Given the description of an element on the screen output the (x, y) to click on. 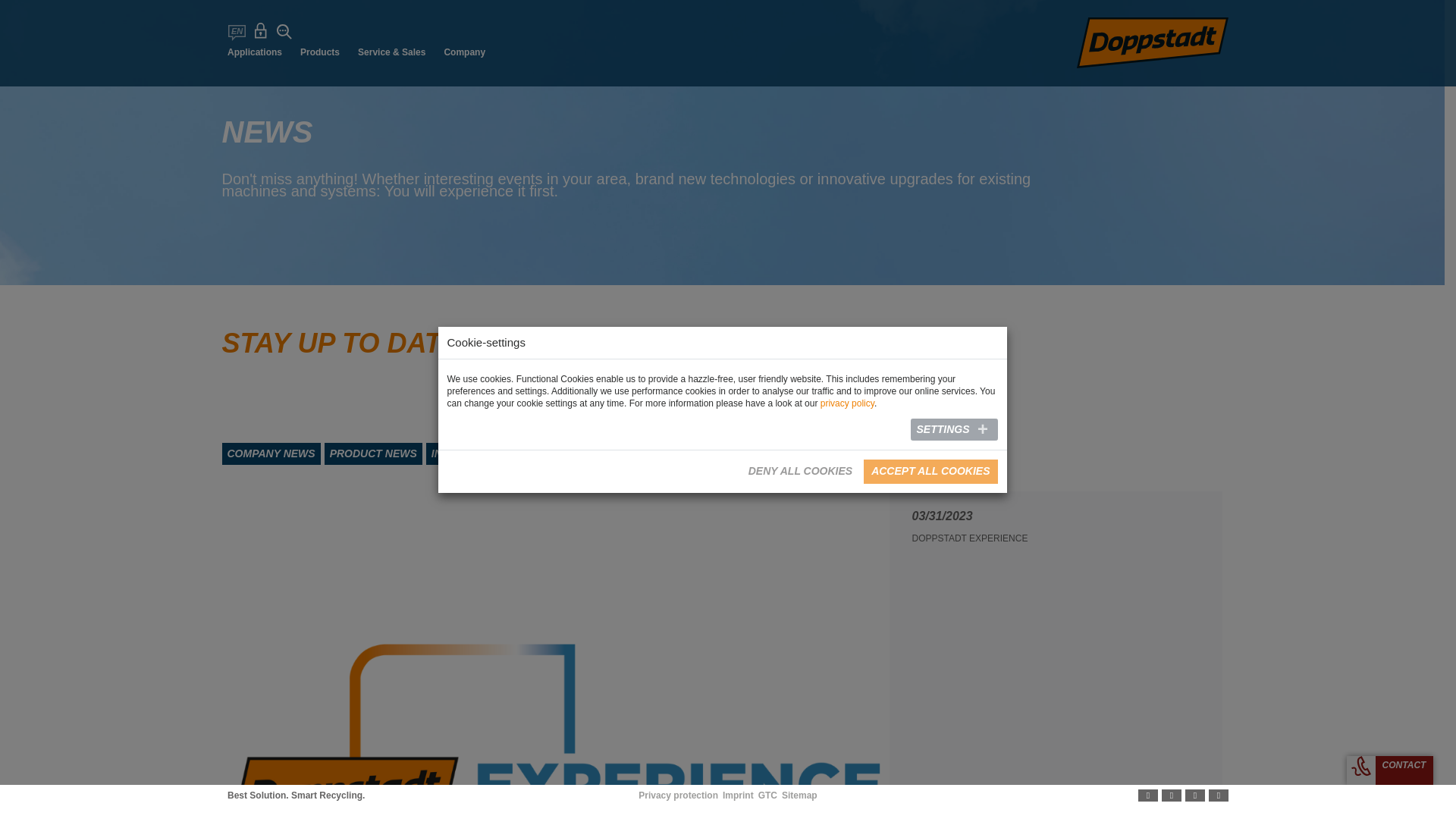
Product news (373, 454)
DOPPSTADT EXPERIENCE (969, 538)
Company news (270, 454)
Applications (254, 52)
EN (236, 31)
Industry news (475, 454)
